Given the description of an element on the screen output the (x, y) to click on. 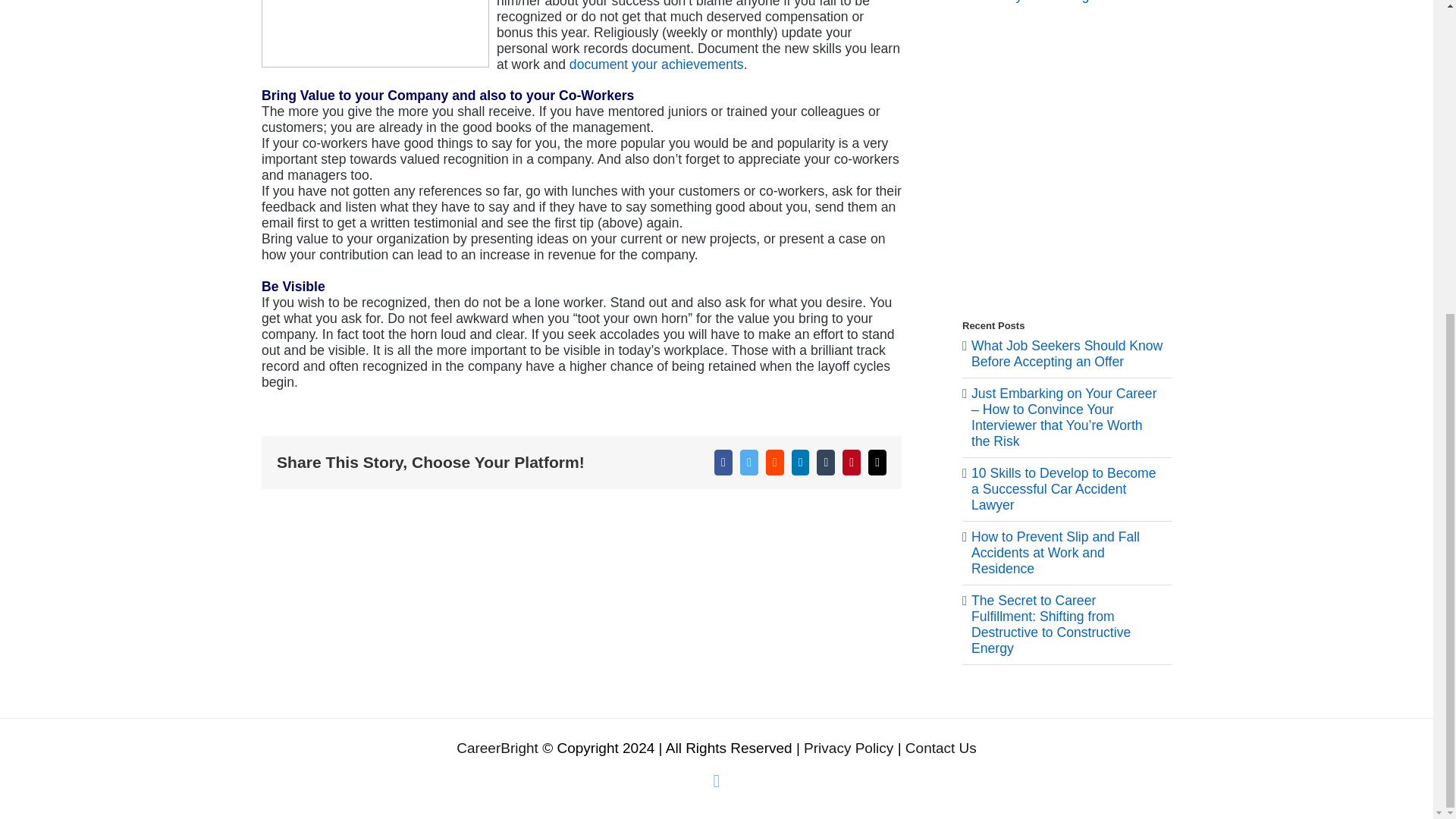
How to Prevent Slip and Fall Accidents at Work and Residence (1055, 552)
Privacy Policy (850, 747)
Tweets by Careerbright (1031, 1)
What Job Seekers Should Know Before Accepting an Offer (1066, 353)
Contact Us (940, 747)
document your achievements (656, 64)
CareerBright (497, 747)
